Given the description of an element on the screen output the (x, y) to click on. 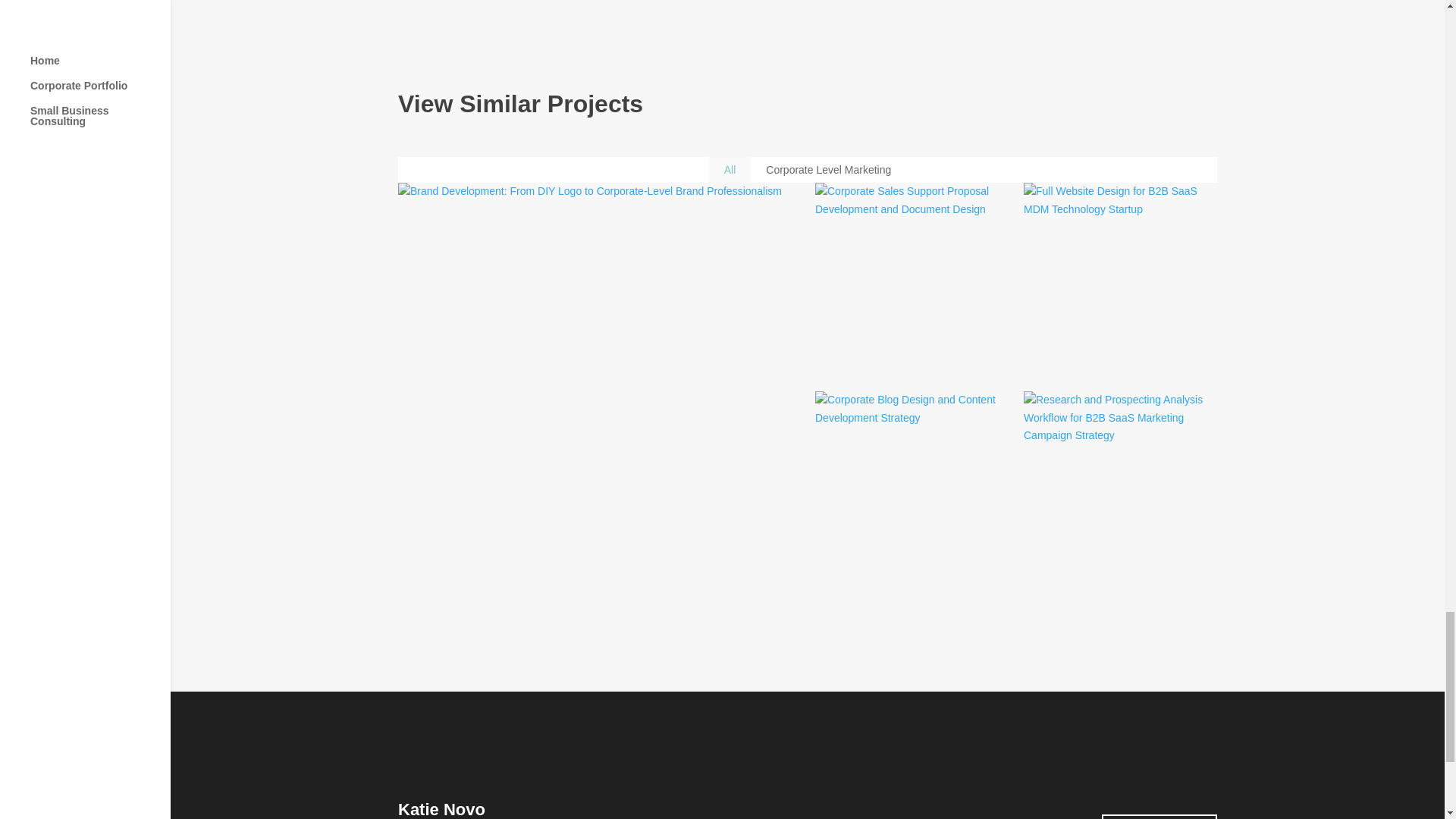
Corporate Level Marketing (828, 169)
All (730, 169)
